Given the description of an element on the screen output the (x, y) to click on. 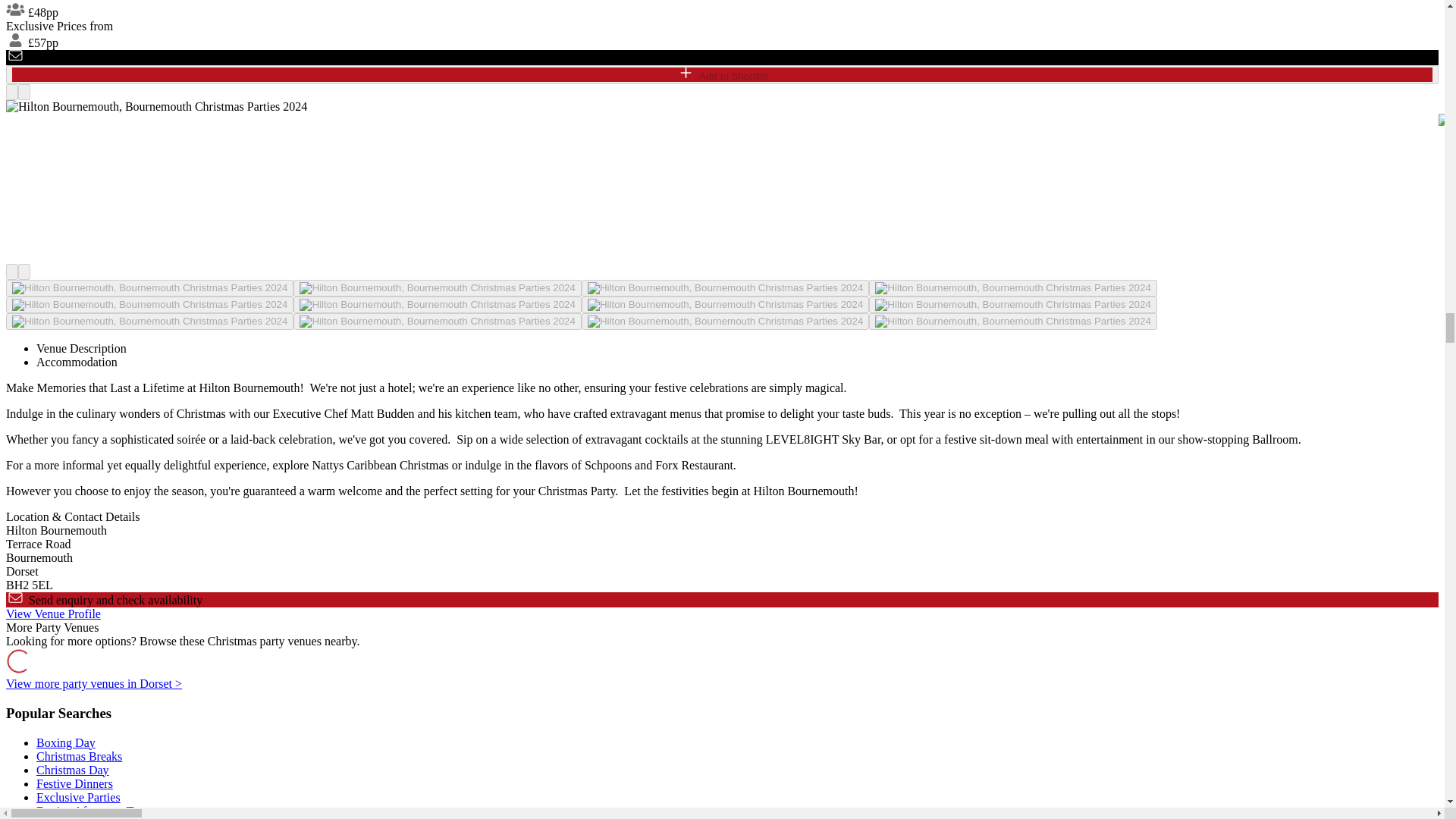
Add to Shortlist (721, 74)
